Given the description of an element on the screen output the (x, y) to click on. 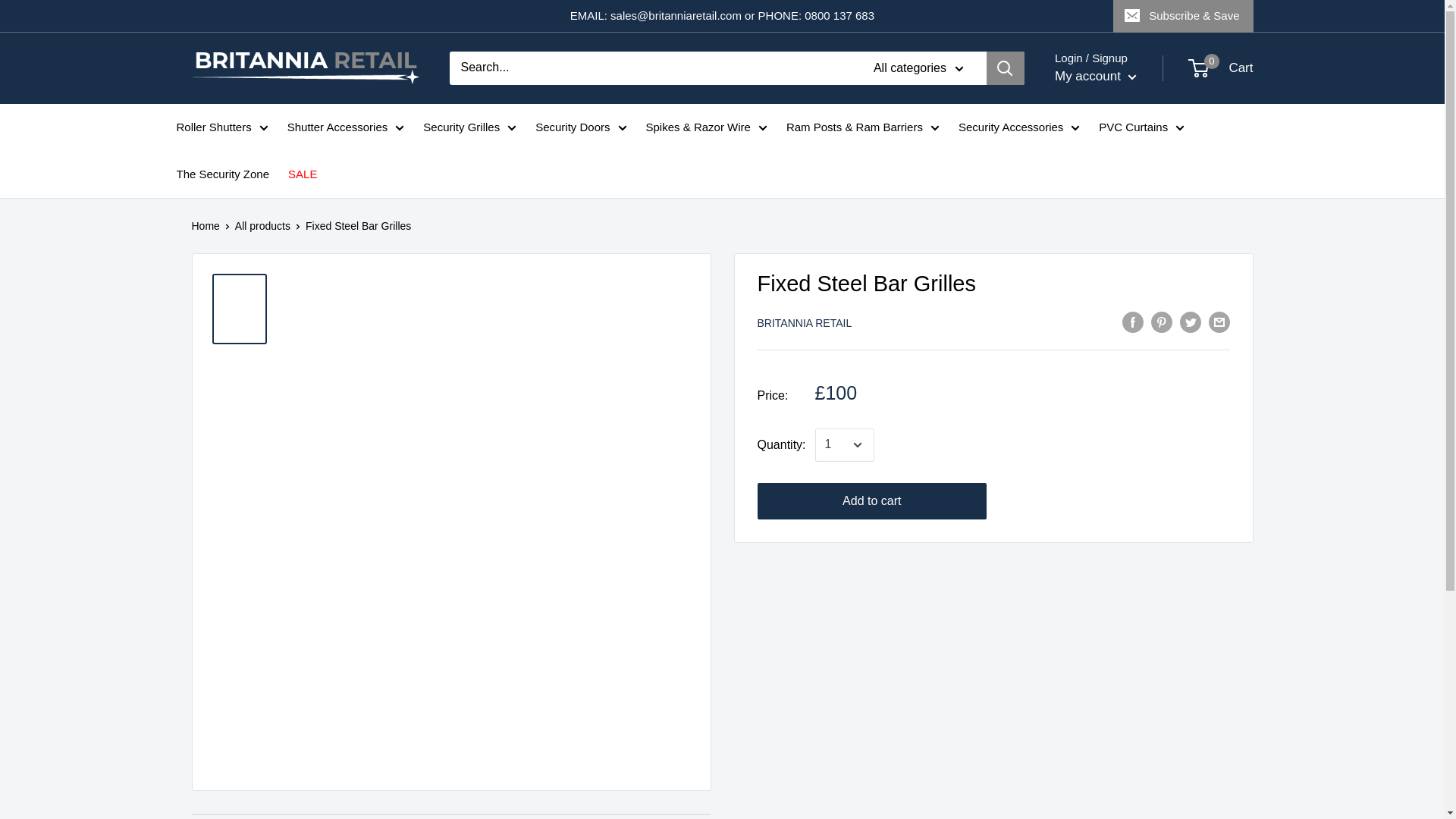
0800 137 683 (840, 15)
